Given the description of an element on the screen output the (x, y) to click on. 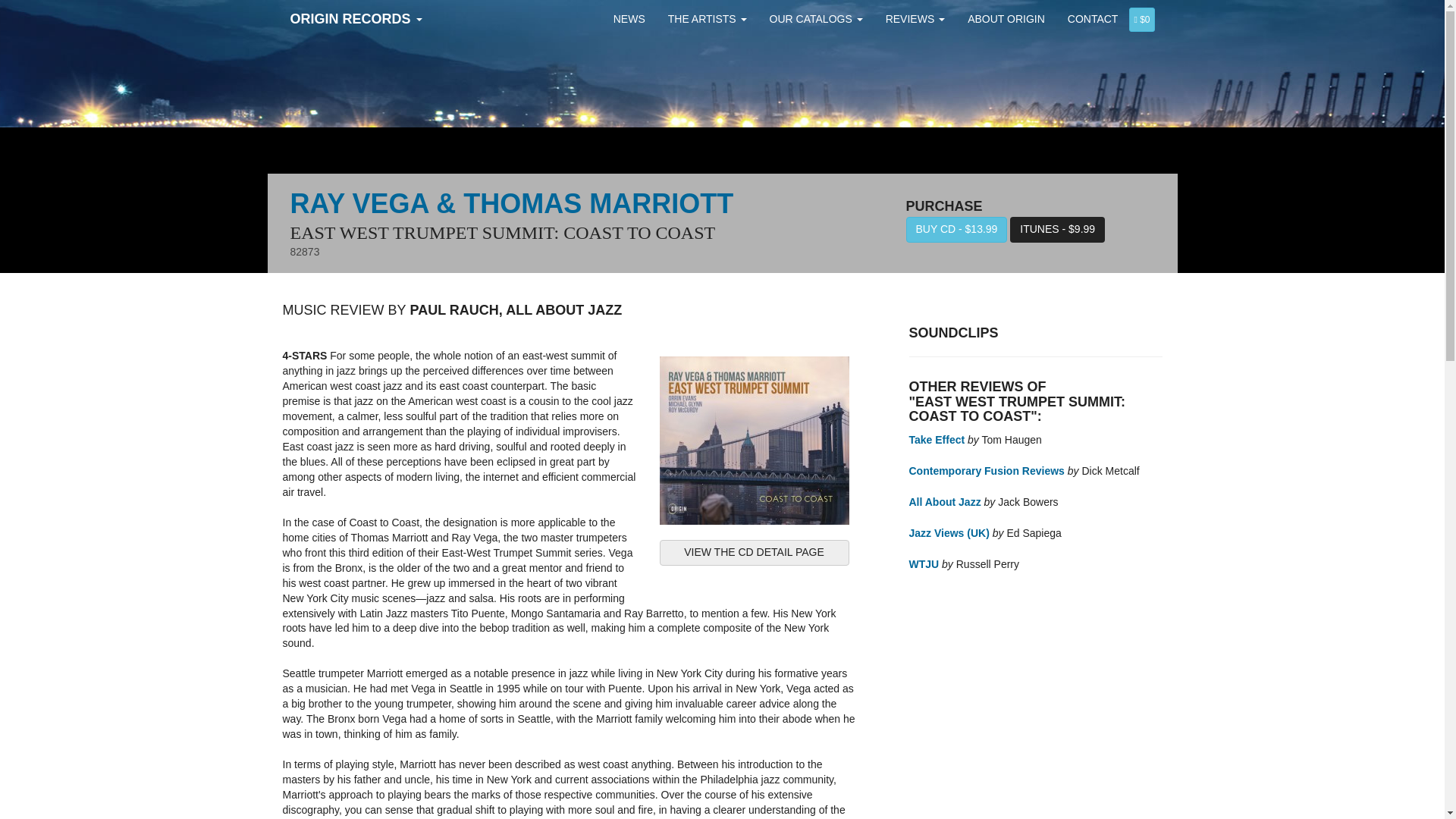
All About Jazz (943, 501)
Contemporary Fusion Reviews (986, 470)
THE ARTISTS (707, 18)
OUR CATALOGS (816, 18)
REVIEWS (915, 18)
CONTACT (1093, 18)
NEWS (629, 18)
WTJU (923, 563)
ORIGIN RECORDS (356, 18)
Take Effect (935, 439)
